Given the description of an element on the screen output the (x, y) to click on. 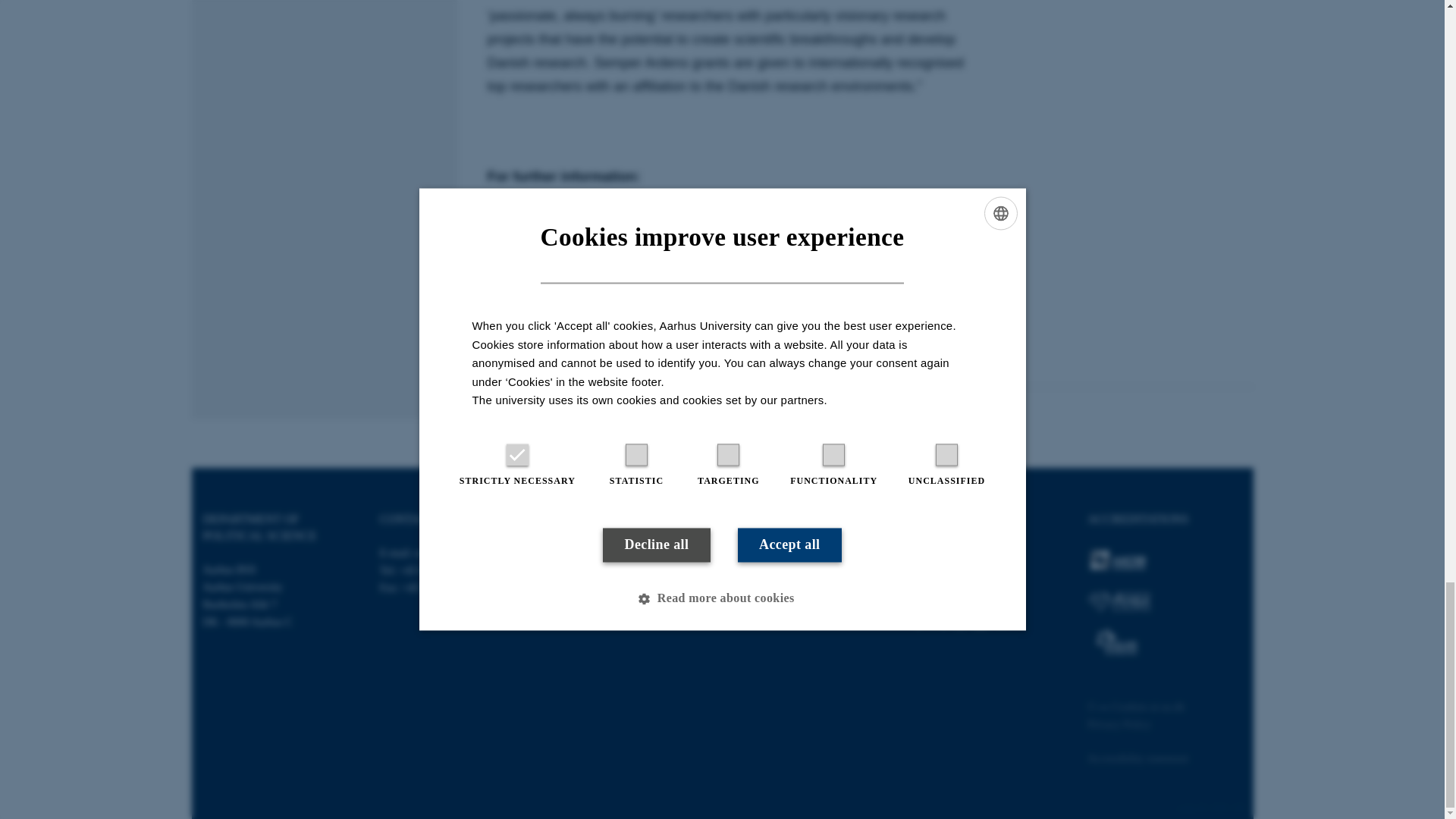
Education (755, 570)
Aarhus BSS (577, 406)
Subfields (753, 587)
Aarhus BSS on Instagram (960, 617)
Aarhus BSS on YouTube (1000, 617)
Aarhus BSS on Twitter (939, 617)
Staff (744, 552)
Aarhus BSS on LinkedIn (980, 617)
Main website of Aarhus BSS (942, 551)
Aarhus BSS on Facebook (918, 617)
